Given the description of an element on the screen output the (x, y) to click on. 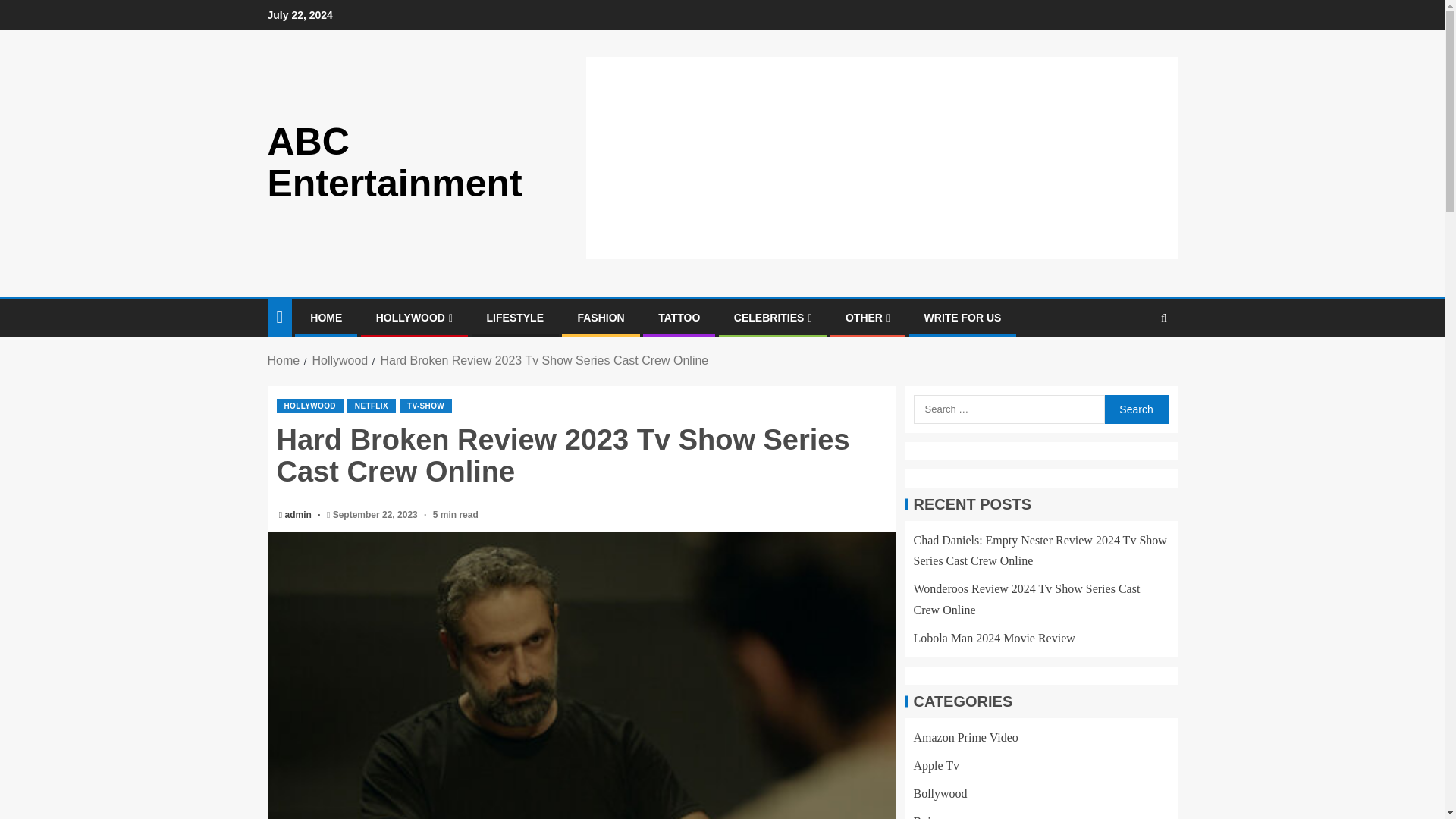
OTHER (867, 317)
ABC Entertainment (393, 162)
HOLLYWOOD (413, 317)
Search (1135, 409)
FASHION (600, 317)
Home (282, 359)
Search (1135, 409)
Search (1163, 317)
Search (1133, 363)
HOME (326, 317)
LIFESTYLE (514, 317)
TATTOO (679, 317)
CELEBRITIES (772, 317)
WRITE FOR US (962, 317)
Advertisement (881, 218)
